Given the description of an element on the screen output the (x, y) to click on. 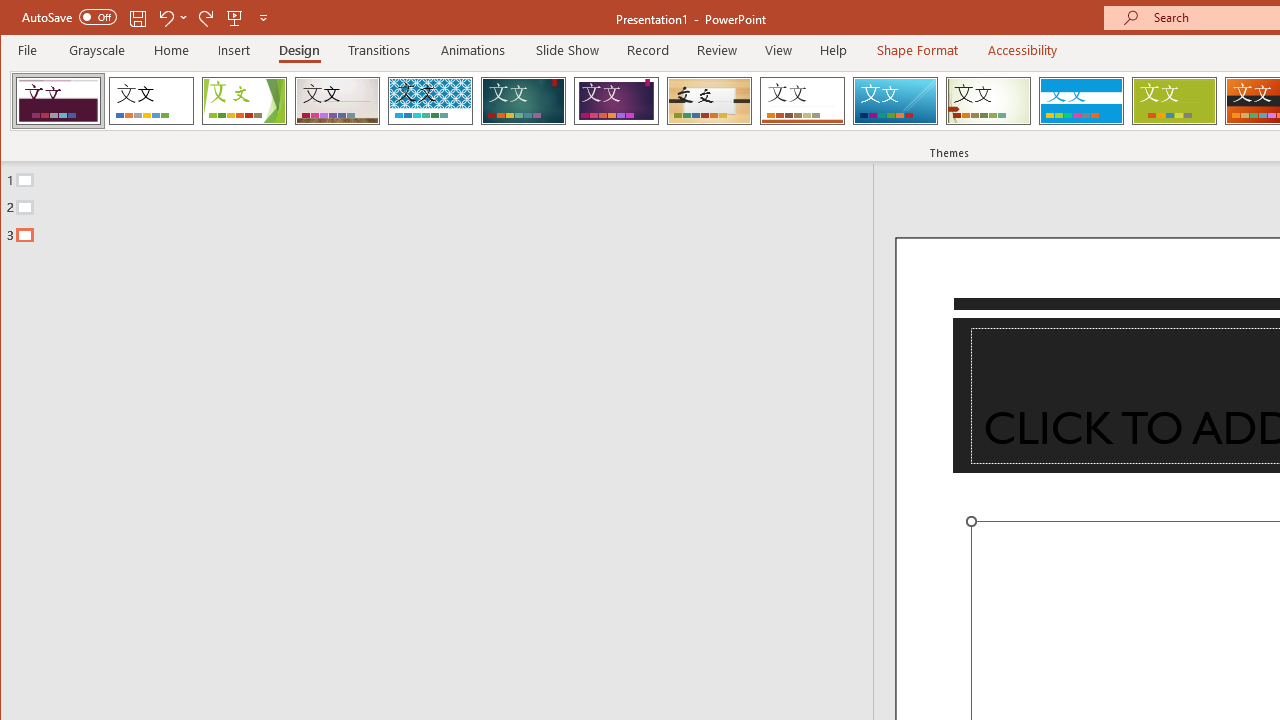
Gallery (337, 100)
Wisp (988, 100)
Outline (445, 203)
Retrospect (802, 100)
Grayscale (97, 50)
Office Theme (151, 100)
Dividend (57, 100)
